Given the description of an element on the screen output the (x, y) to click on. 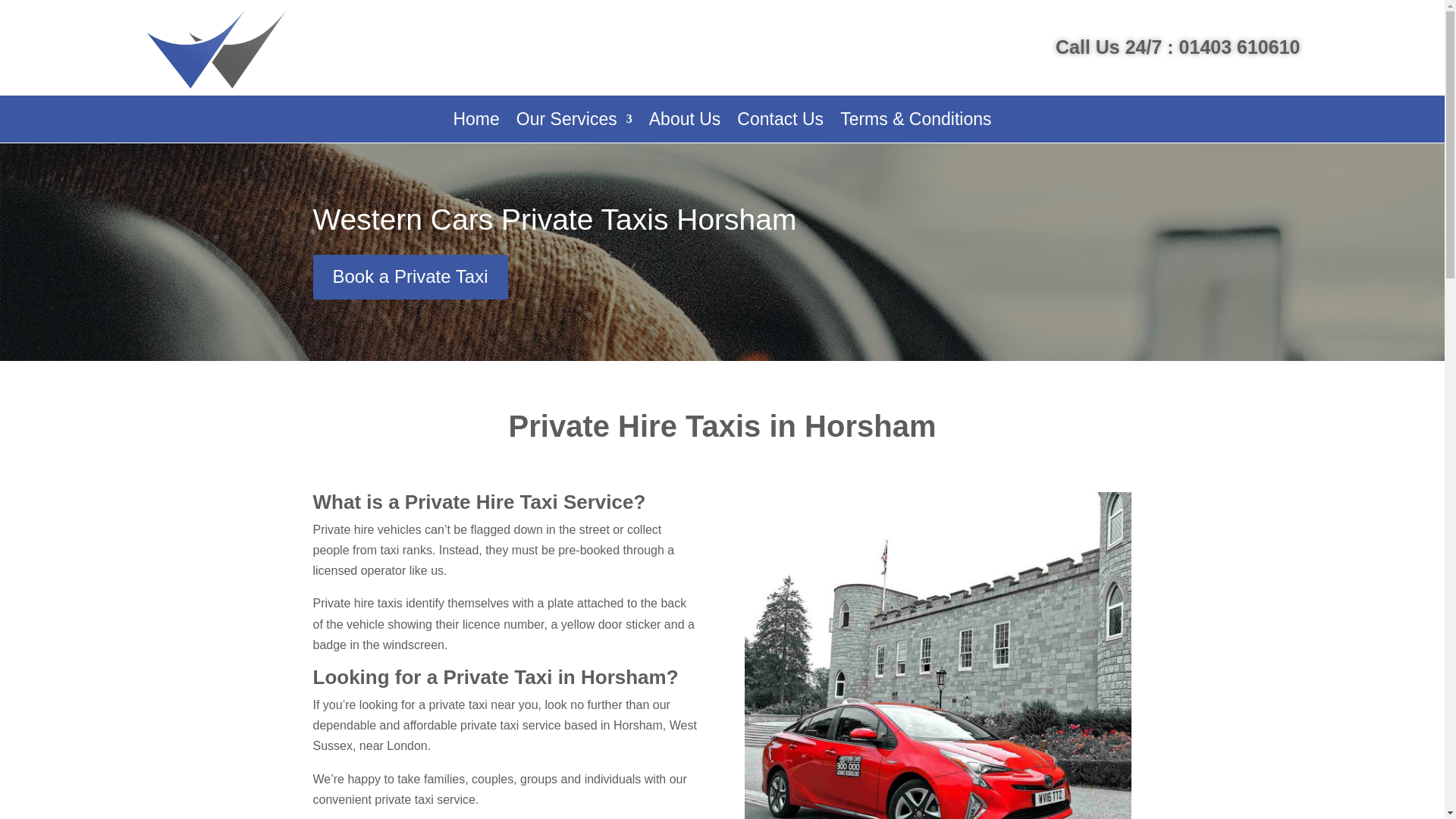
Home (475, 121)
01403 610610 (1239, 46)
Western Cars Taxi Logo No URL (218, 47)
Book a Private Taxi (409, 276)
Why Choose Us (937, 655)
Contact Us (780, 121)
About Us (684, 121)
Our Services (573, 121)
